Given the description of an element on the screen output the (x, y) to click on. 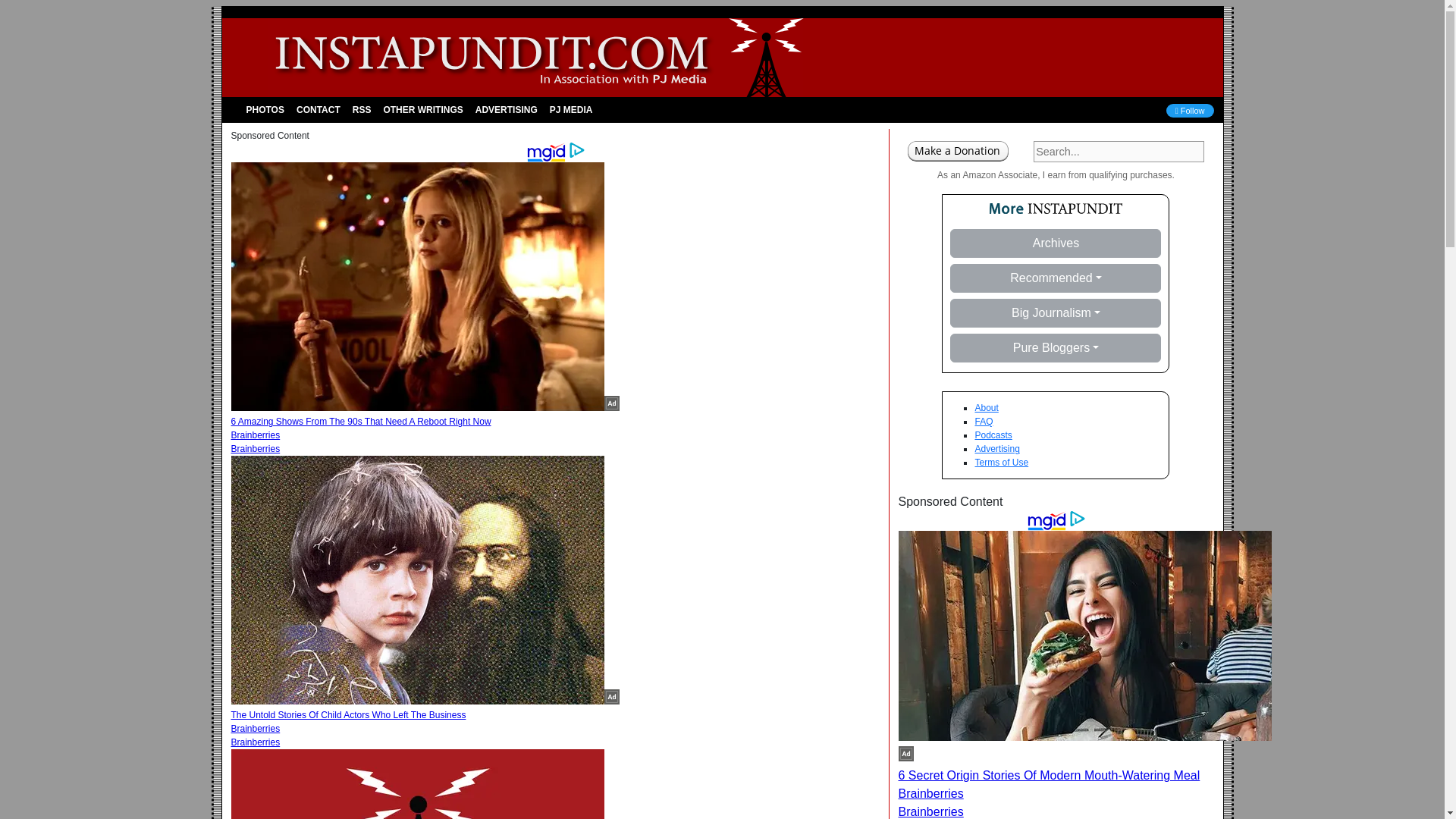
ADVERTISING (505, 109)
Advertising (505, 109)
Recommended (1055, 277)
PJ MEDIA (570, 109)
RSS (361, 109)
CONTACT (317, 109)
PJ Media (570, 109)
Archives (1055, 243)
OTHER WRITINGS (422, 109)
Photos (264, 109)
Contact (317, 109)
RSS (361, 109)
PHOTOS (264, 109)
Follow (1190, 110)
Other Writings (422, 109)
